Given the description of an element on the screen output the (x, y) to click on. 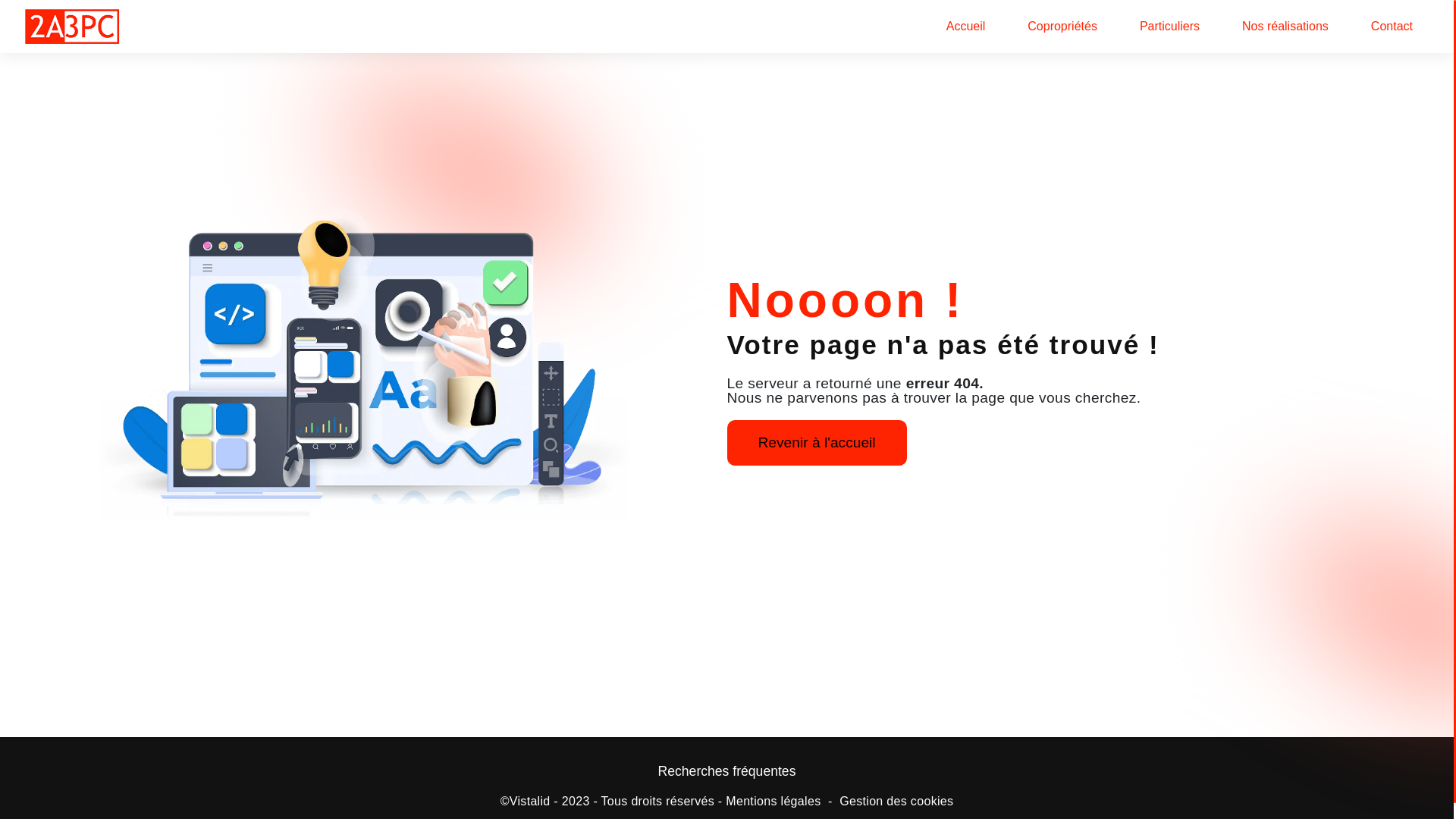
Contact Element type: text (1391, 26)
Vistalid Element type: text (529, 801)
logo Element type: hover (71, 26)
Accueil Element type: text (965, 26)
Particuliers Element type: text (1169, 26)
Gestion des cookies Element type: text (896, 801)
